Given the description of an element on the screen output the (x, y) to click on. 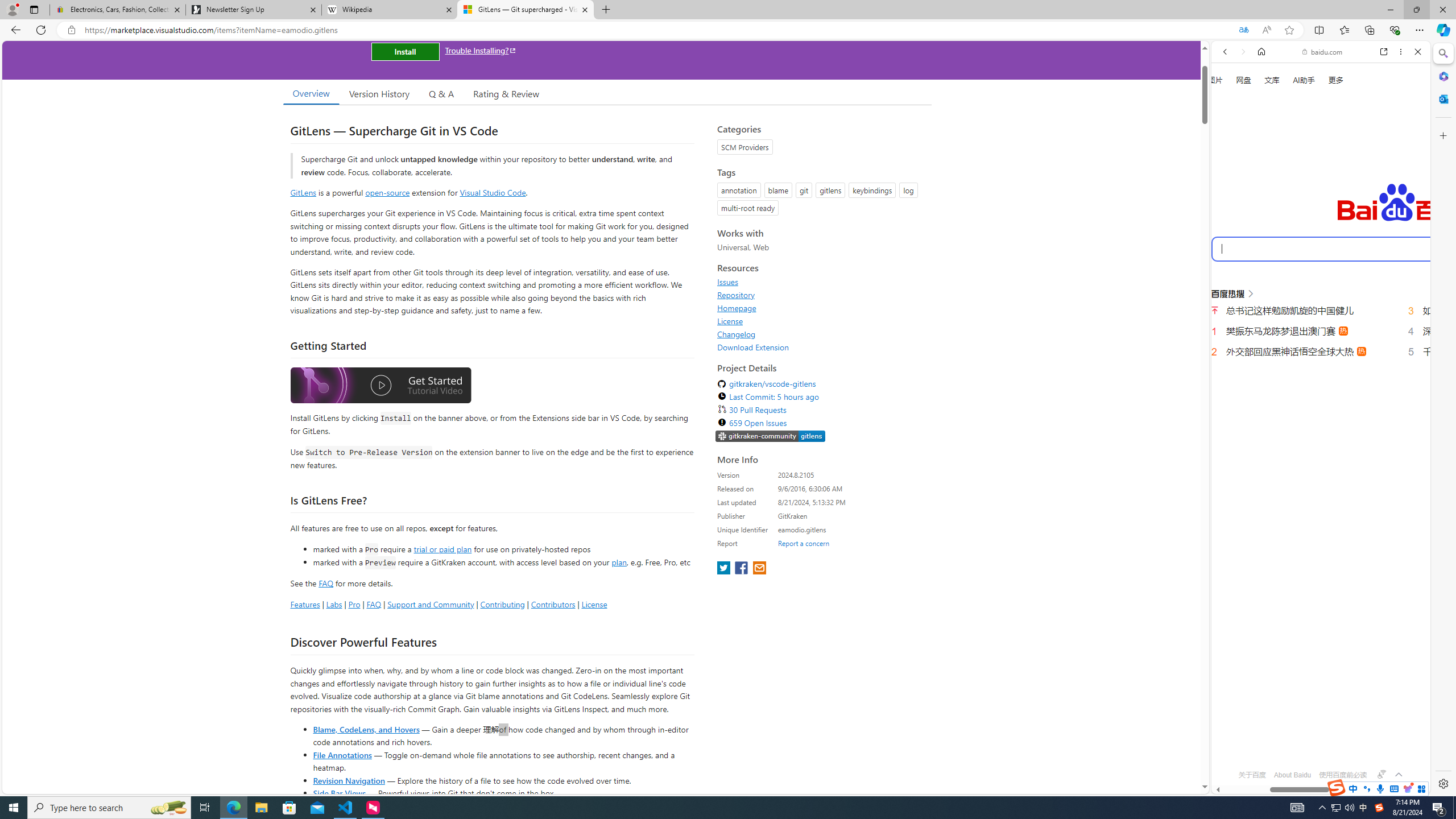
License (820, 320)
Contributors (552, 603)
Global web icon (1232, 743)
